Given the description of an element on the screen output the (x, y) to click on. 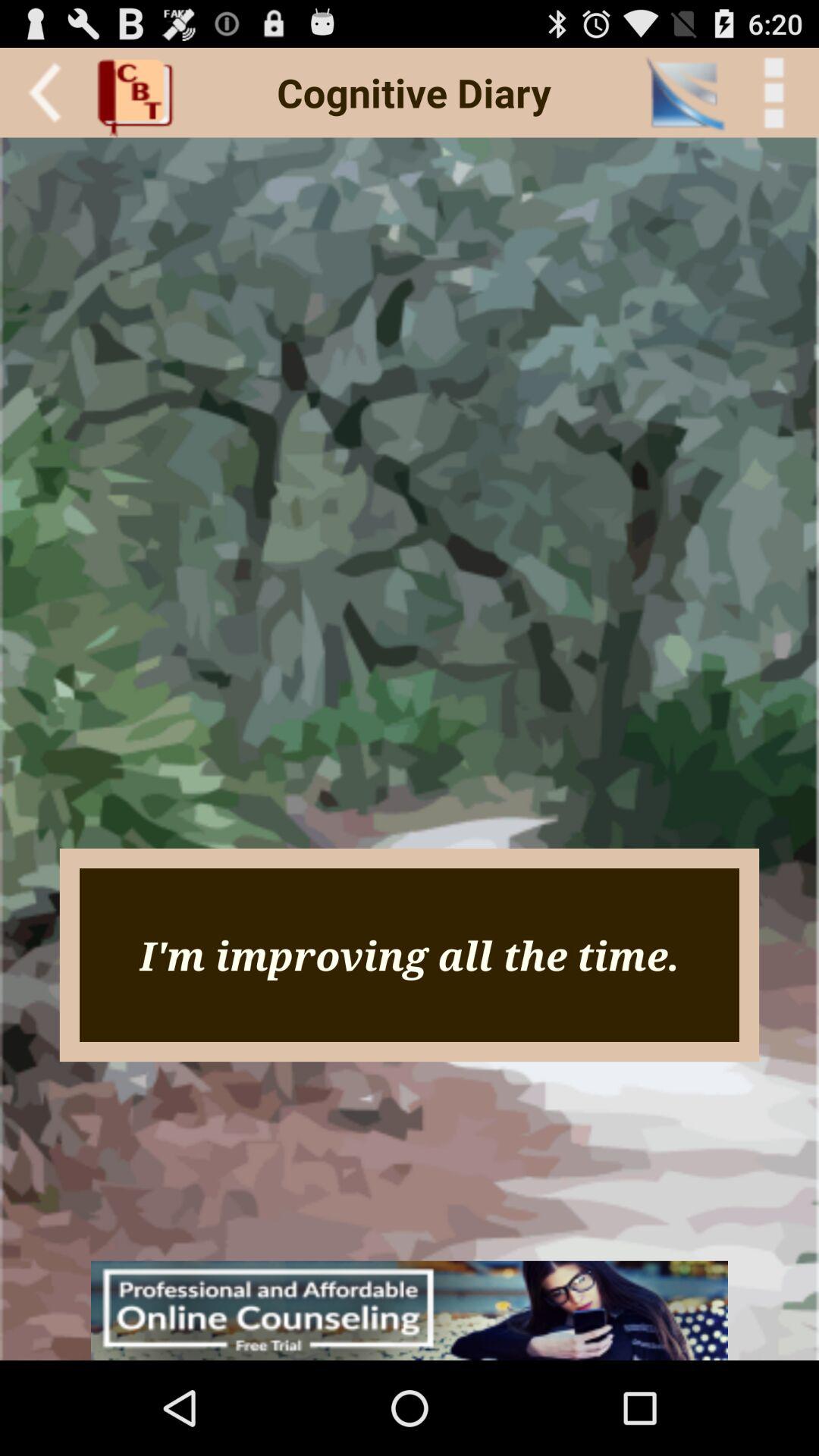
select the item to the left of < back (684, 92)
